Given the description of an element on the screen output the (x, y) to click on. 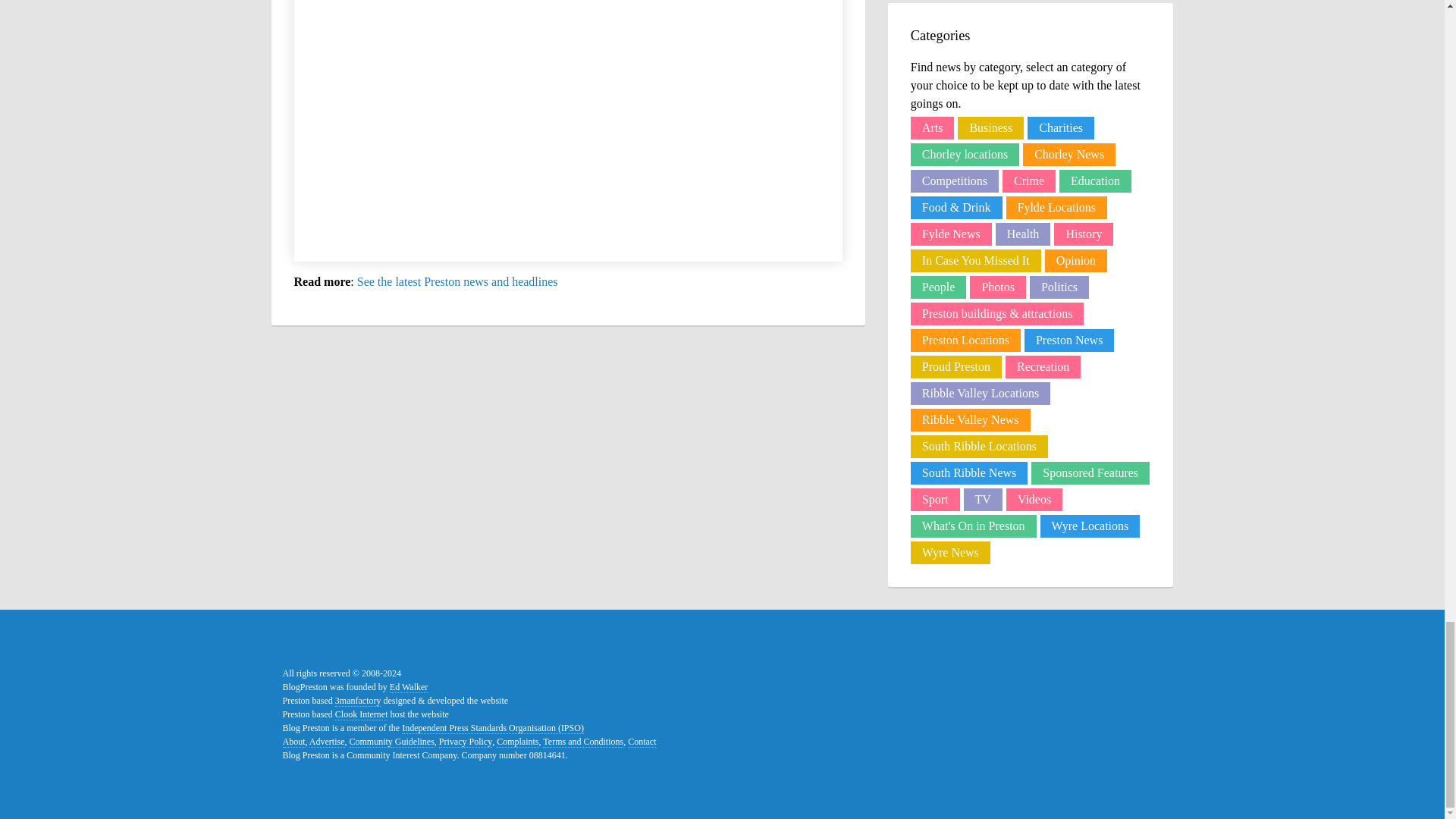
See the latest Preston news and headlines (456, 281)
